Given the description of an element on the screen output the (x, y) to click on. 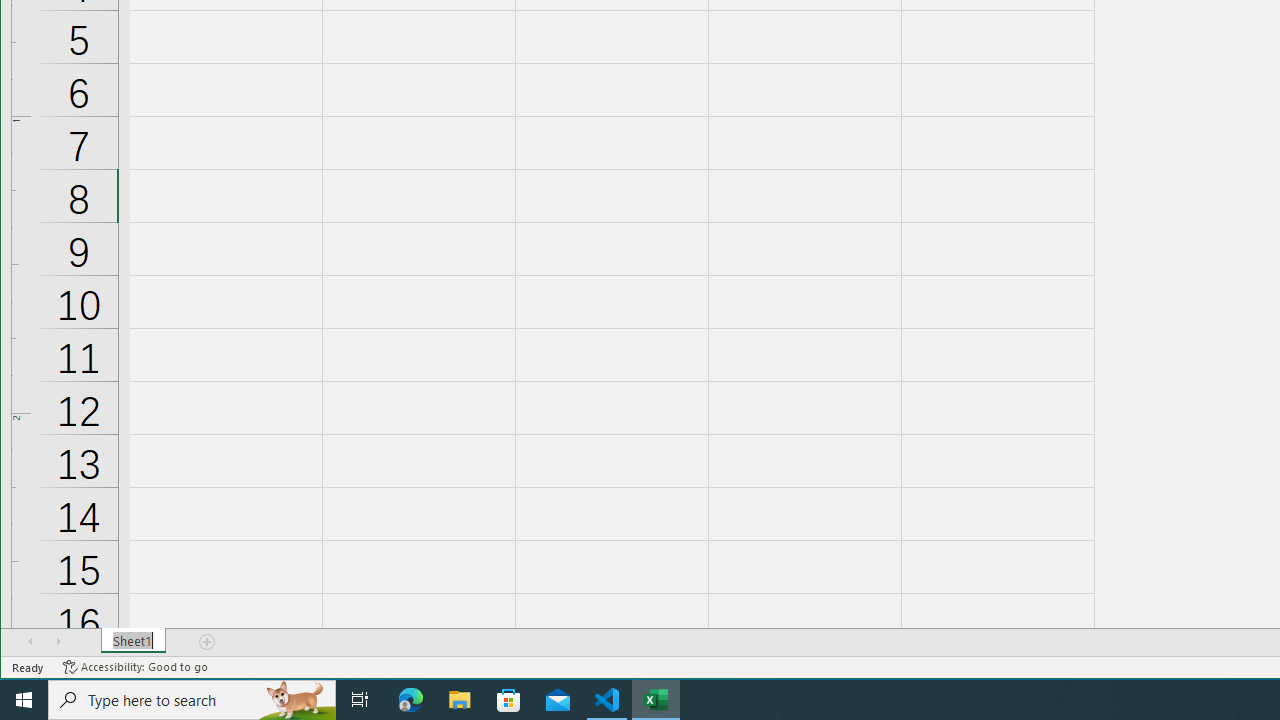
Visual Studio Code - 1 running window (607, 699)
Type here to search (191, 699)
Search highlights icon opens search home window (295, 699)
Start (24, 699)
Microsoft Store (509, 699)
Task View (359, 699)
Excel - 1 running window (656, 699)
Sheet Tab (133, 641)
Microsoft Edge (411, 699)
